Given the description of an element on the screen output the (x, y) to click on. 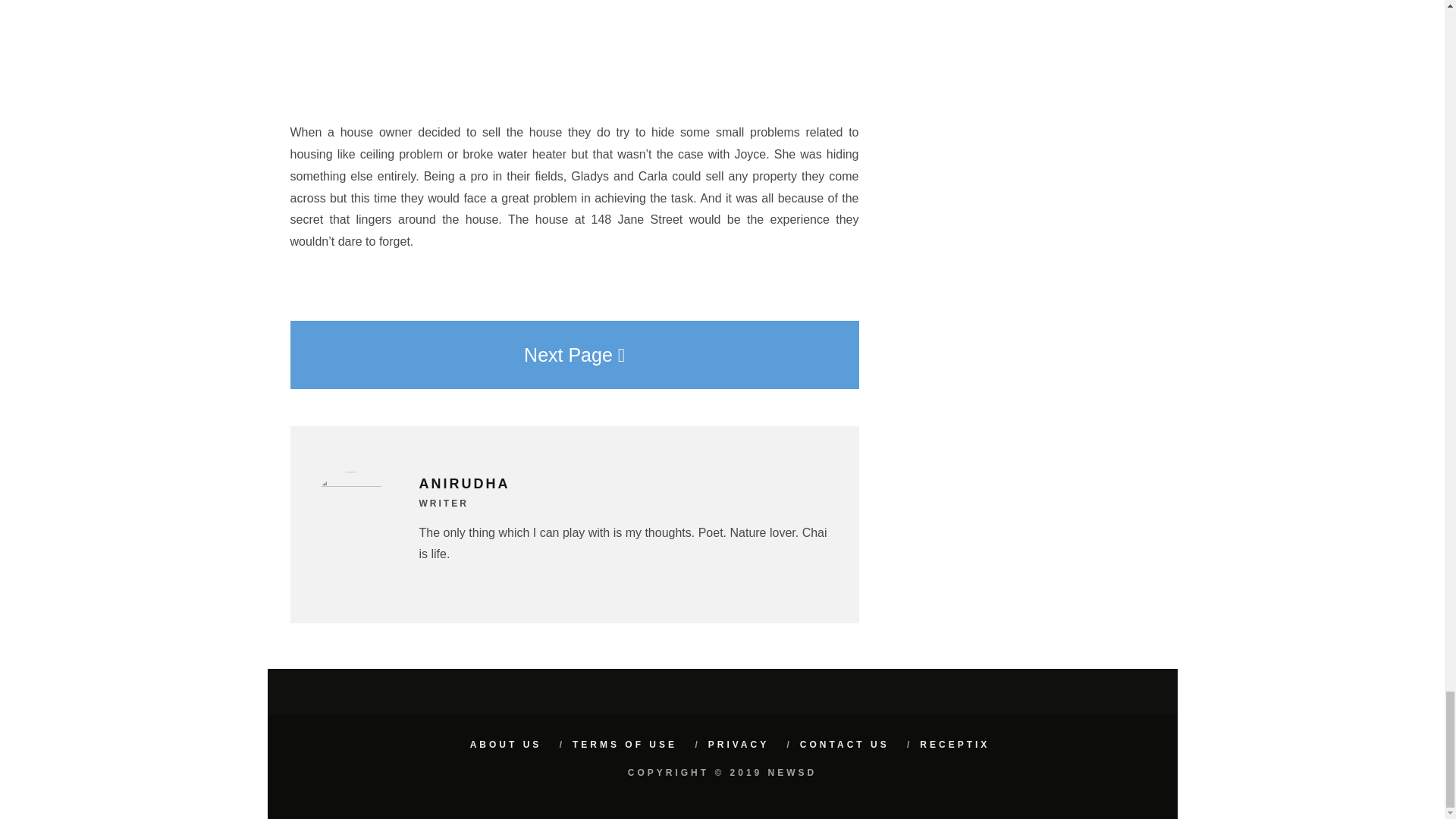
PRIVACY (737, 744)
CONTACT US (844, 744)
Next Page (574, 355)
RECEPTIX (955, 744)
ANIRUDHA (464, 483)
ABOUT US (505, 744)
TERMS OF USE (624, 744)
